Given the description of an element on the screen output the (x, y) to click on. 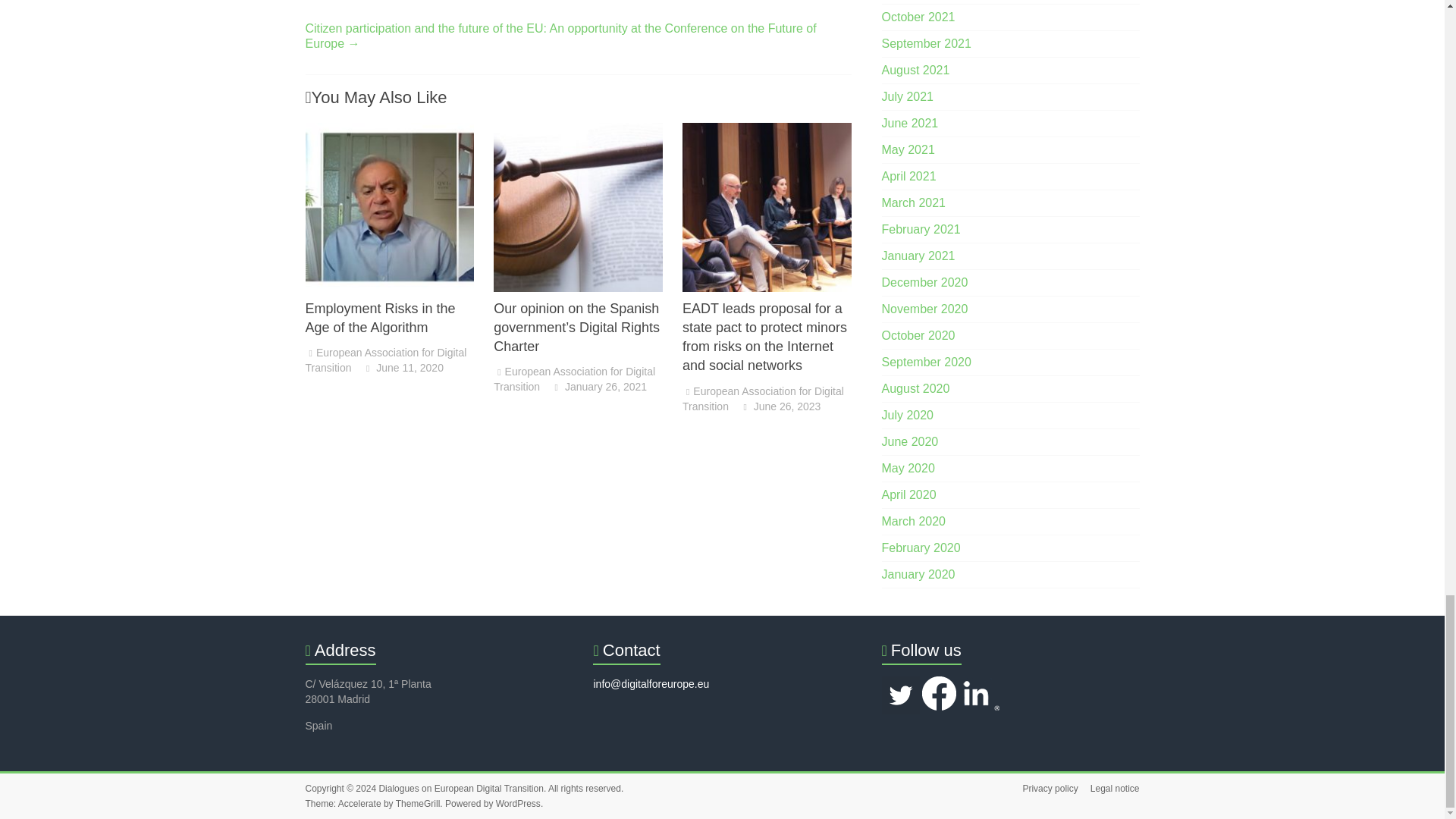
European Association for Digital Transition (384, 359)
European Association for Digital Transition (574, 379)
Employment Risks in the Age of the Algorithm (389, 206)
Employment Risks in the Age of the Algorithm (379, 317)
June 11, 2020 (403, 367)
European Association for Digital Transition (384, 359)
Employment Risks in the Age of the Algorithm (379, 317)
10:25 am (403, 367)
10:55 am (598, 386)
Employment Risks in the Age of the Algorithm (389, 129)
